Given the description of an element on the screen output the (x, y) to click on. 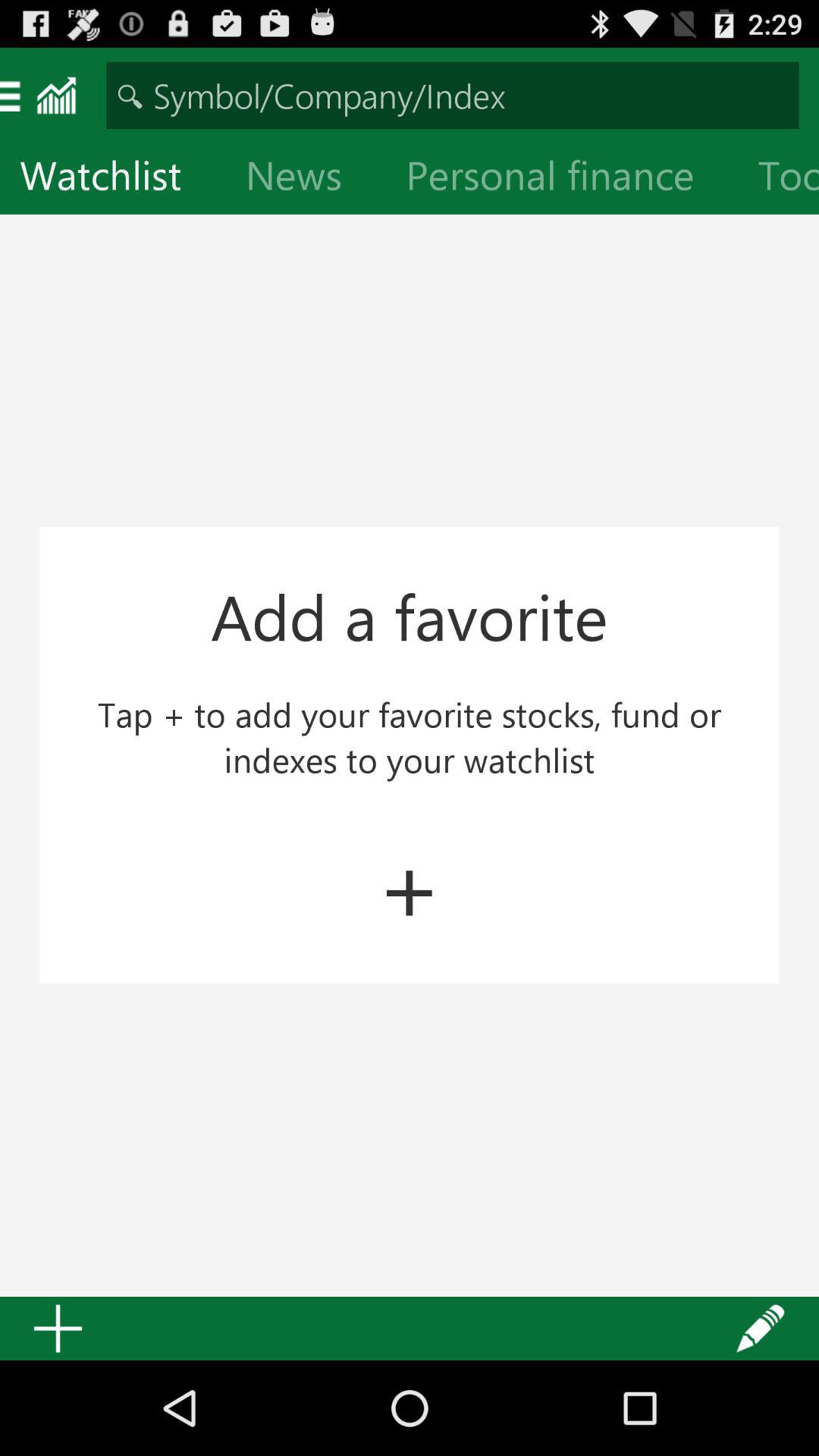
choose + item (409, 885)
